Given the description of an element on the screen output the (x, y) to click on. 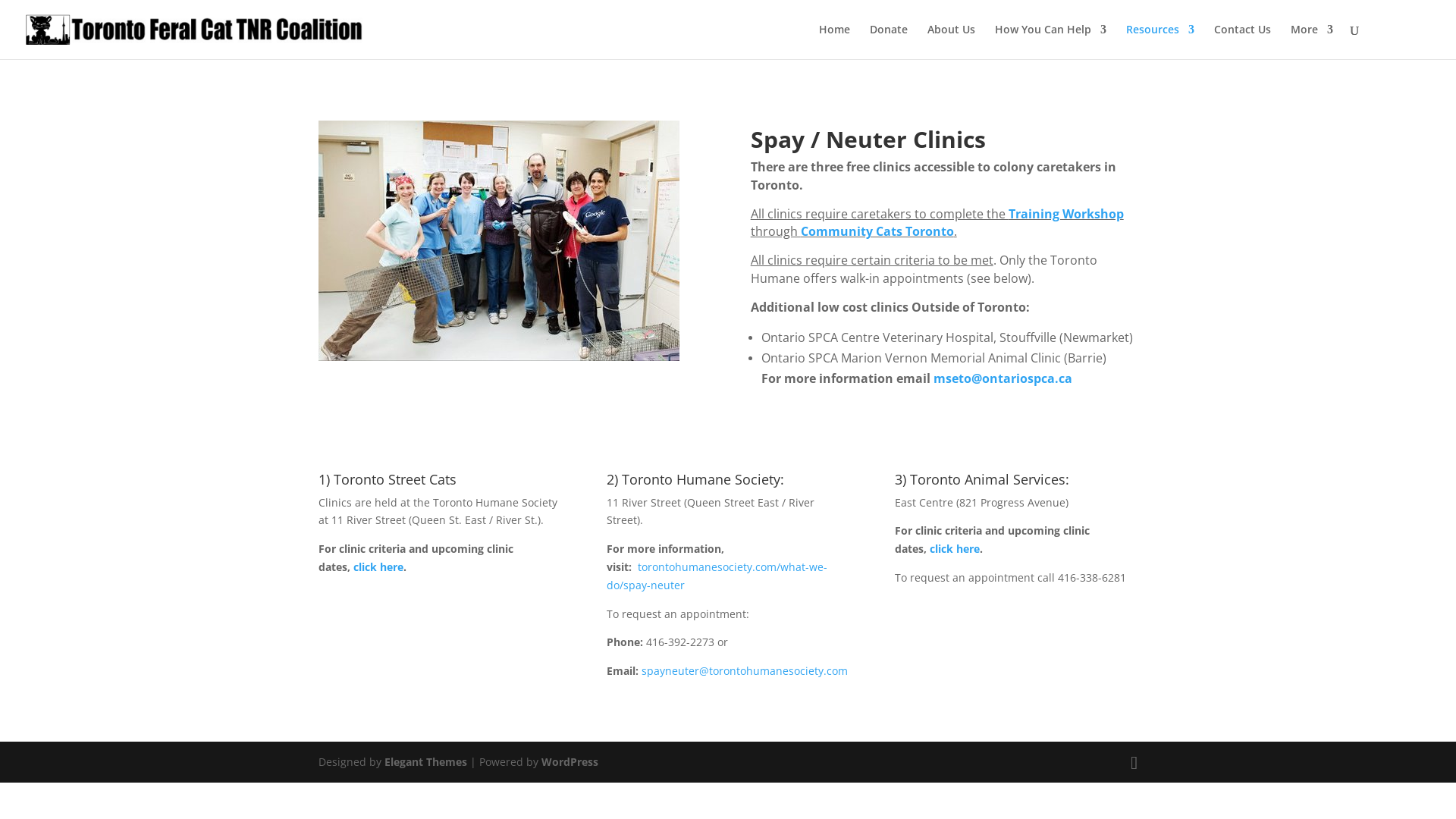
spayneuter@torontohumanesociety.com Element type: text (744, 670)
About Us Element type: text (951, 41)
More Element type: text (1311, 41)
Home Element type: text (834, 41)
Training Workshop Element type: text (1065, 213)
Resources Element type: text (1160, 41)
torontohumanesociety.com/what-we-do/spay-neuter Element type: text (716, 575)
How You Can Help Element type: text (1050, 41)
Elegant Themes Element type: text (425, 761)
click here Element type: text (954, 548)
click here Element type: text (378, 566)
Donate Element type: text (888, 41)
7645181 Element type: hover (498, 240)
Community Cats Toronto Element type: text (876, 230)
Contact Us Element type: text (1242, 41)
WordPress Element type: text (569, 761)
mseto@ontariospca.ca Element type: text (1002, 378)
